Given the description of an element on the screen output the (x, y) to click on. 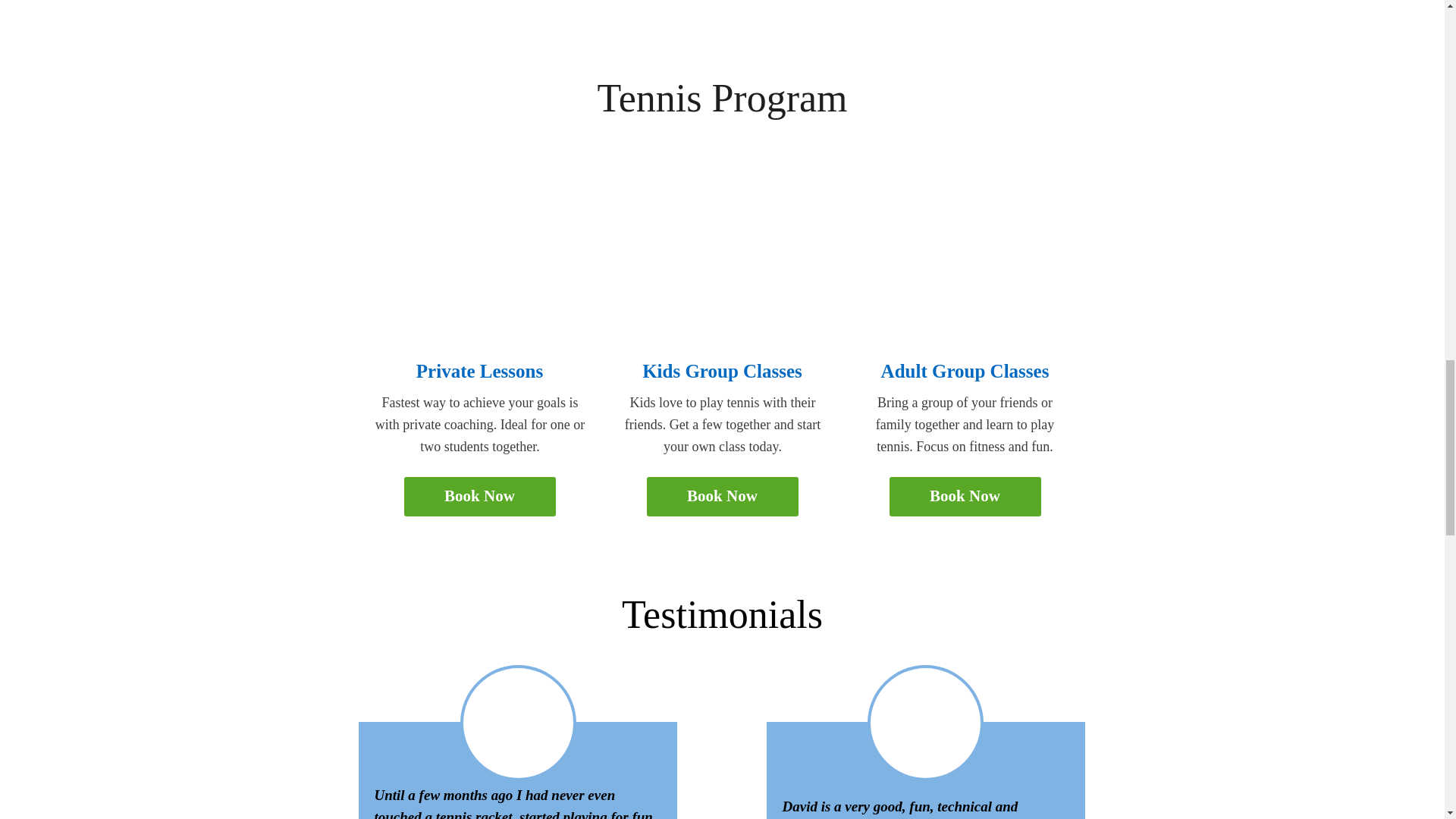
Book Now (964, 496)
Book Now (478, 496)
Book Now (721, 496)
